Given the description of an element on the screen output the (x, y) to click on. 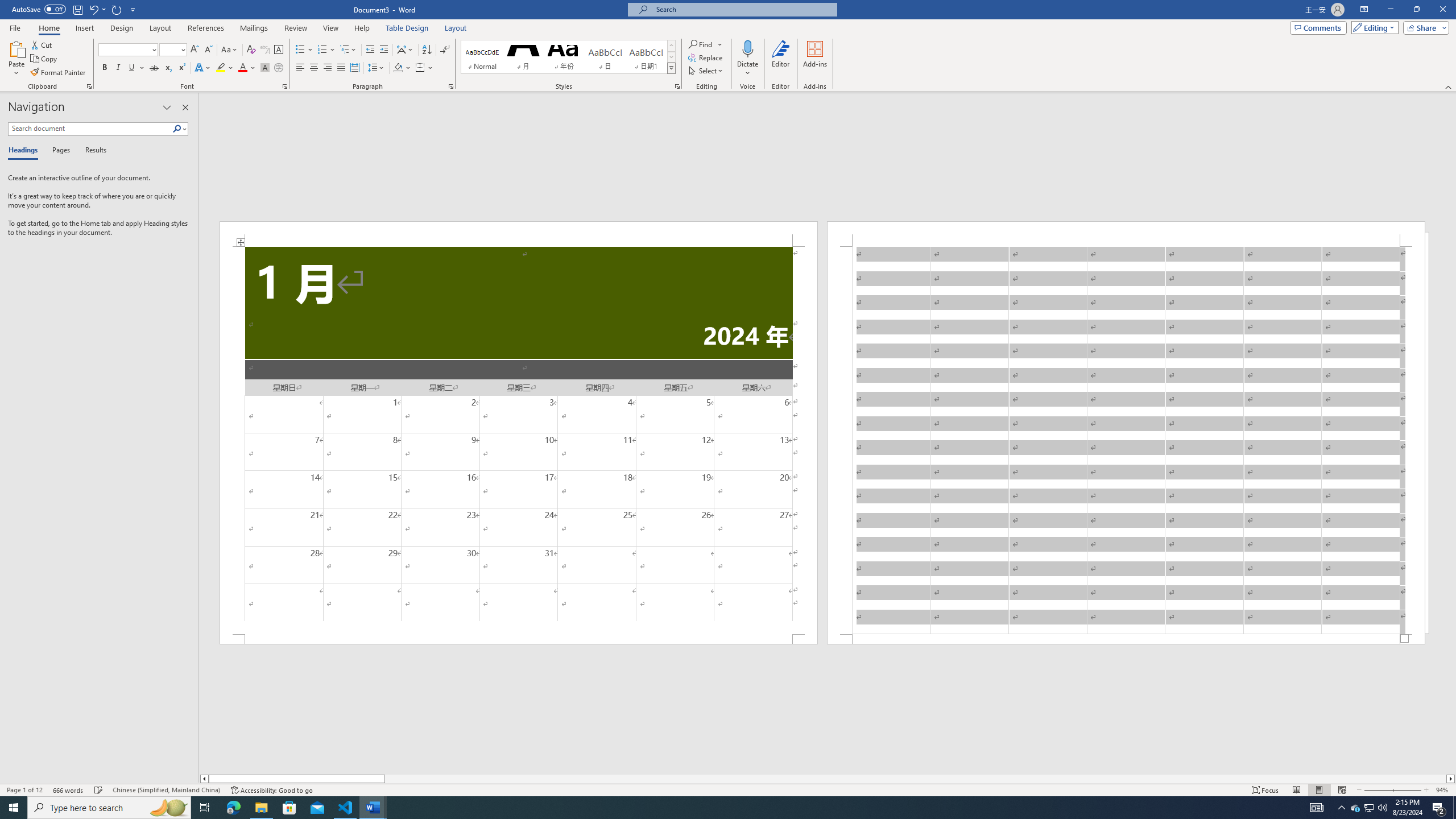
Shading RGB(0, 0, 0) (397, 67)
Language Chinese (Simplified, Mainland China) (165, 790)
Close pane (185, 107)
Strikethrough (154, 67)
Replace... (705, 56)
Shading (402, 67)
Ribbon Display Options (1364, 9)
Zoom Out (1377, 790)
Enclose Characters... (278, 67)
Open (182, 49)
Multilevel List (347, 49)
